Given the description of an element on the screen output the (x, y) to click on. 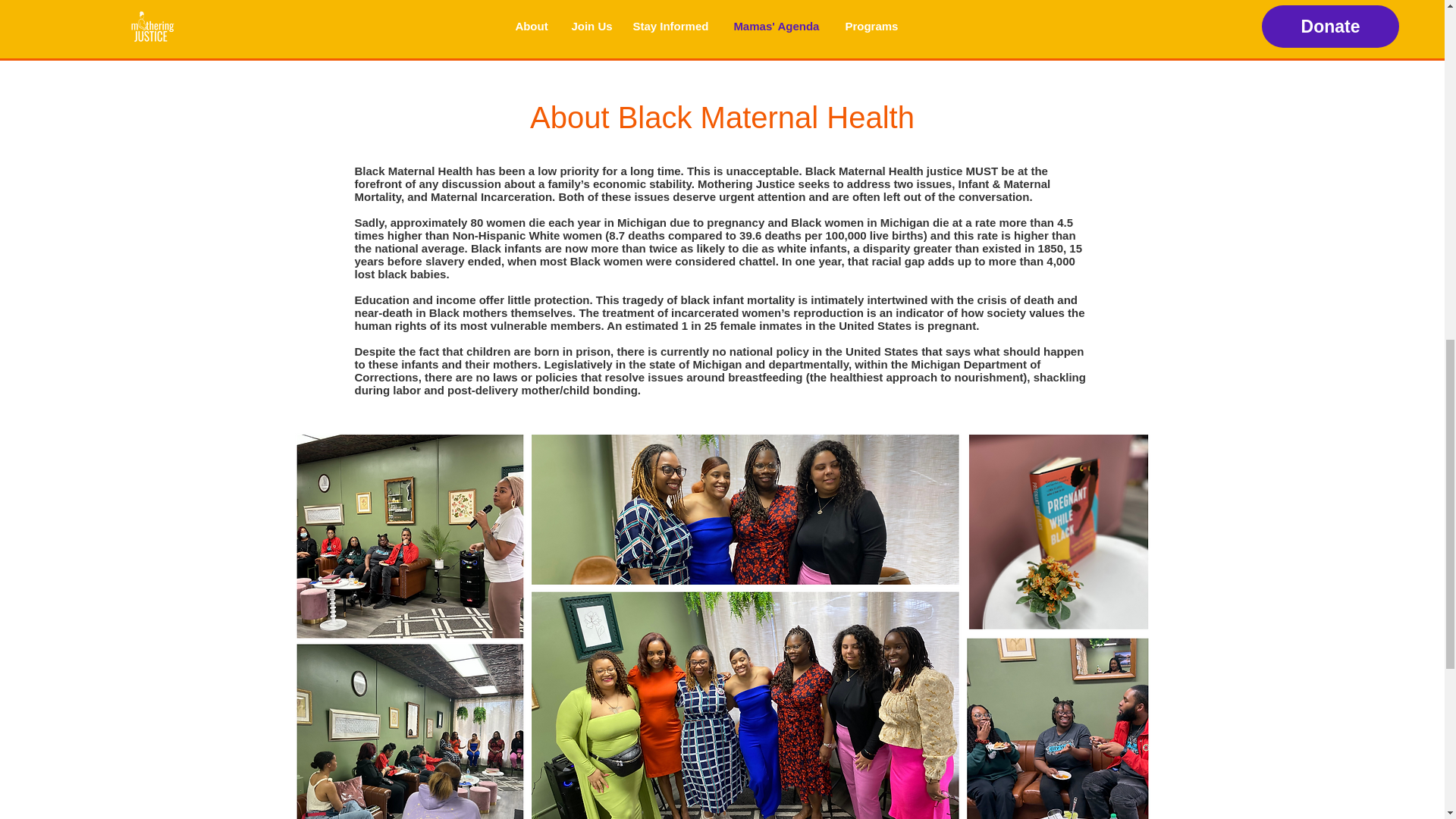
Learn More (806, 4)
